Given the description of an element on the screen output the (x, y) to click on. 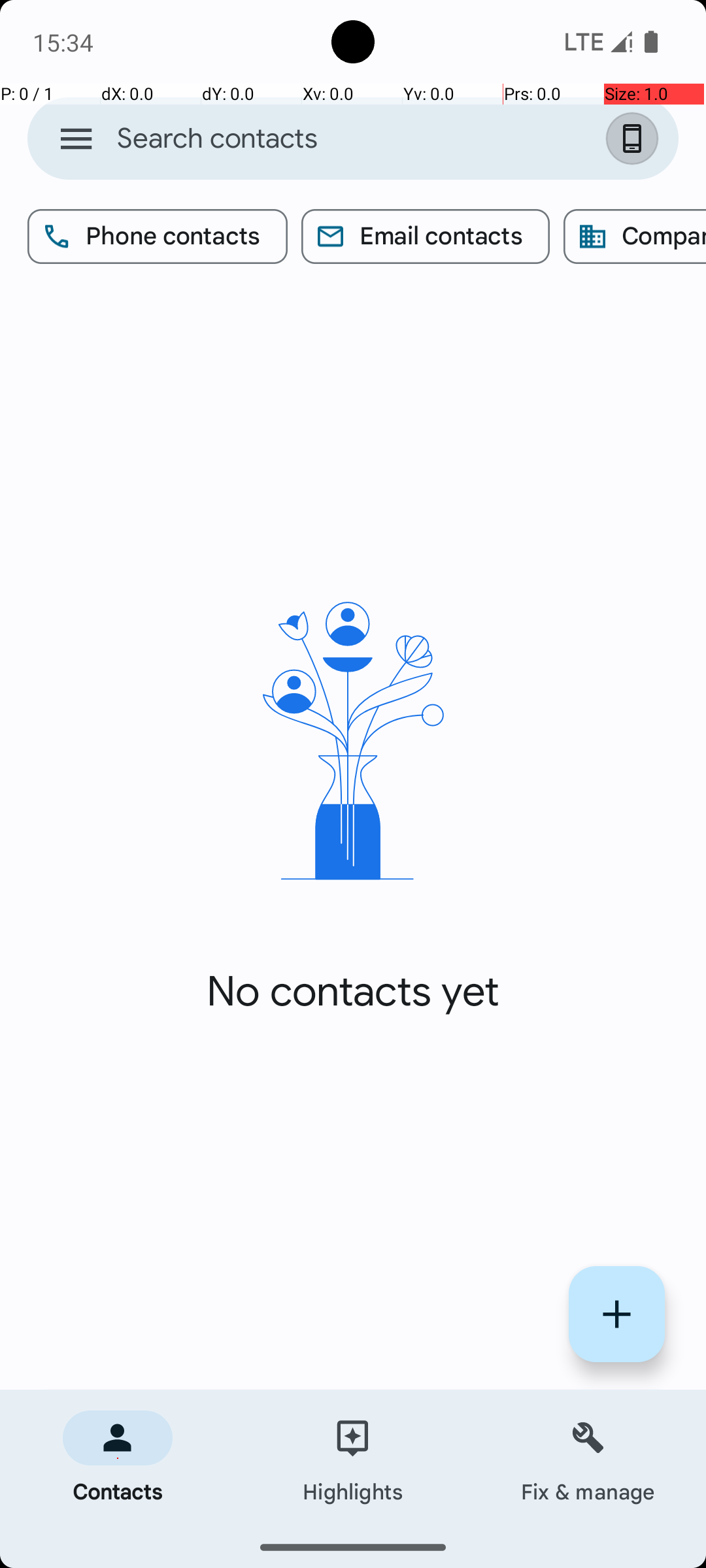
Create contact Element type: android.widget.ImageButton (616, 1314)
Contacts Element type: android.widget.FrameLayout (117, 1457)
Highlights Element type: android.widget.FrameLayout (352, 1457)
Fix & manage Element type: android.widget.FrameLayout (588, 1457)
Open navigation drawer Element type: android.widget.ImageButton (75, 138)
Signed in as Device
Account and settings. Element type: android.widget.FrameLayout (634, 138)
No contacts yet Element type: android.widget.TextView (353, 991)
Phone contacts Element type: android.widget.Button (157, 236)
Email contacts Element type: android.widget.Button (425, 236)
Company Element type: android.widget.Button (634, 236)
